Given the description of an element on the screen output the (x, y) to click on. 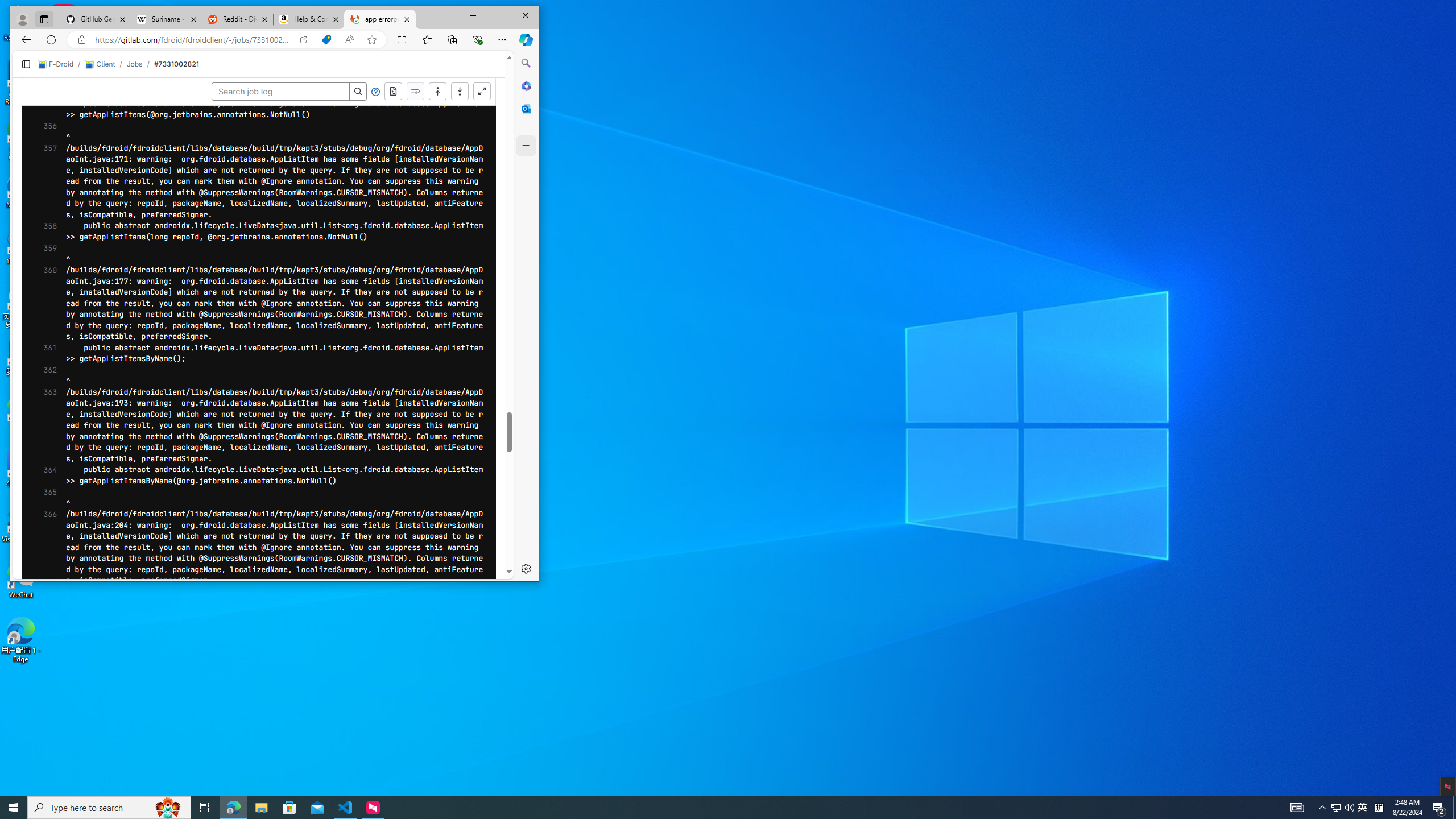
404 (41, 188)
437 (41, 555)
435 (41, 532)
415 (41, 311)
396 (41, 100)
Client (223, 54)
Task View (204, 807)
452 (41, 722)
GitHub General Privacy Statement - GitHub Docs (117, 9)
412 (41, 278)
419 (41, 355)
